Given the description of an element on the screen output the (x, y) to click on. 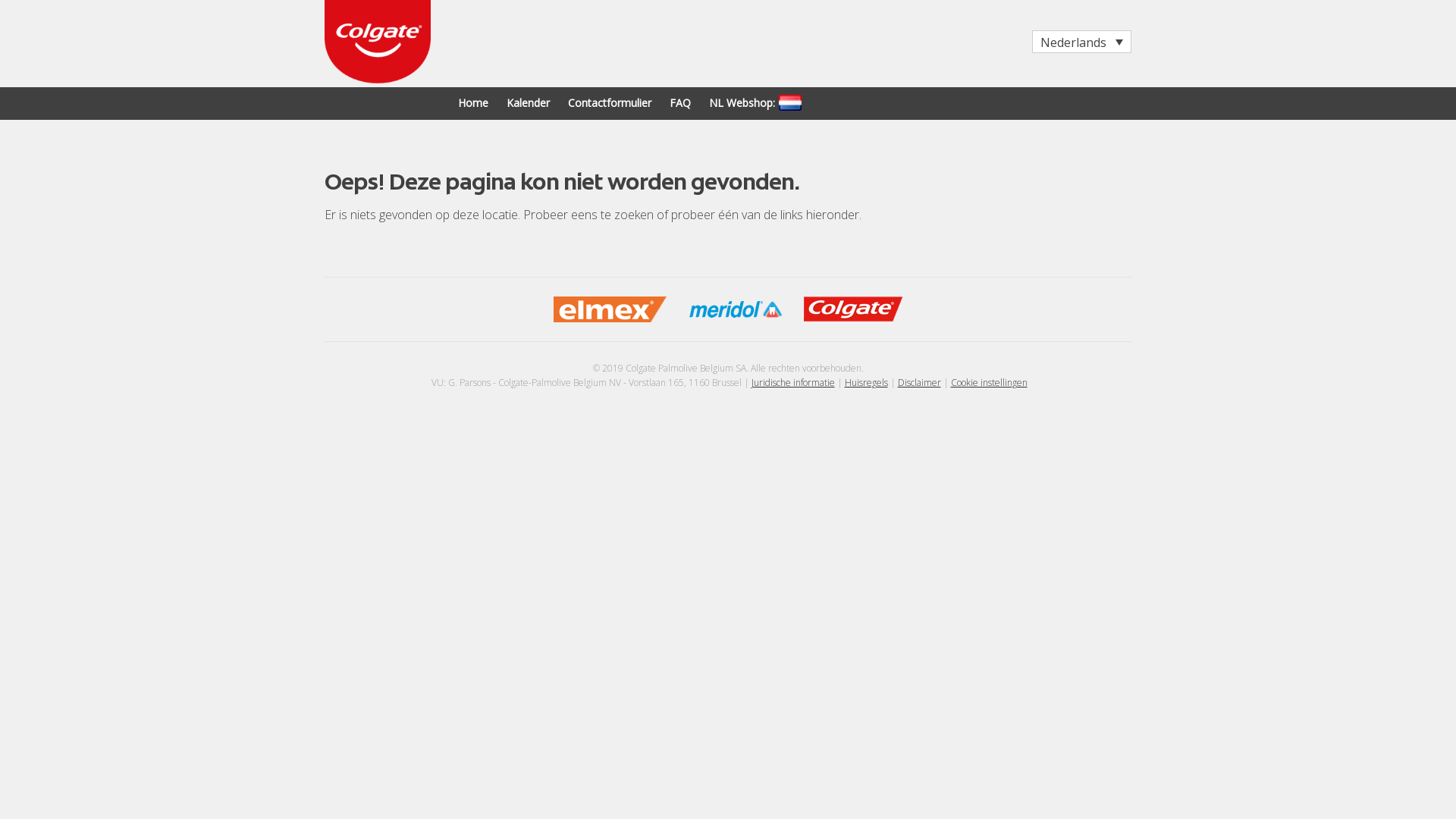
Cookie instellingen Element type: text (988, 382)
Nederlands Element type: text (1081, 41)
Huisregels Element type: text (866, 382)
NL Webshop: Element type: text (741, 103)
FAQ Element type: text (680, 103)
Disclaimer Element type: text (919, 382)
Juridische informatie Element type: text (792, 382)
Kalender Element type: text (527, 103)
Contactformulier Element type: text (609, 103)
Home Element type: text (472, 103)
